Given the description of an element on the screen output the (x, y) to click on. 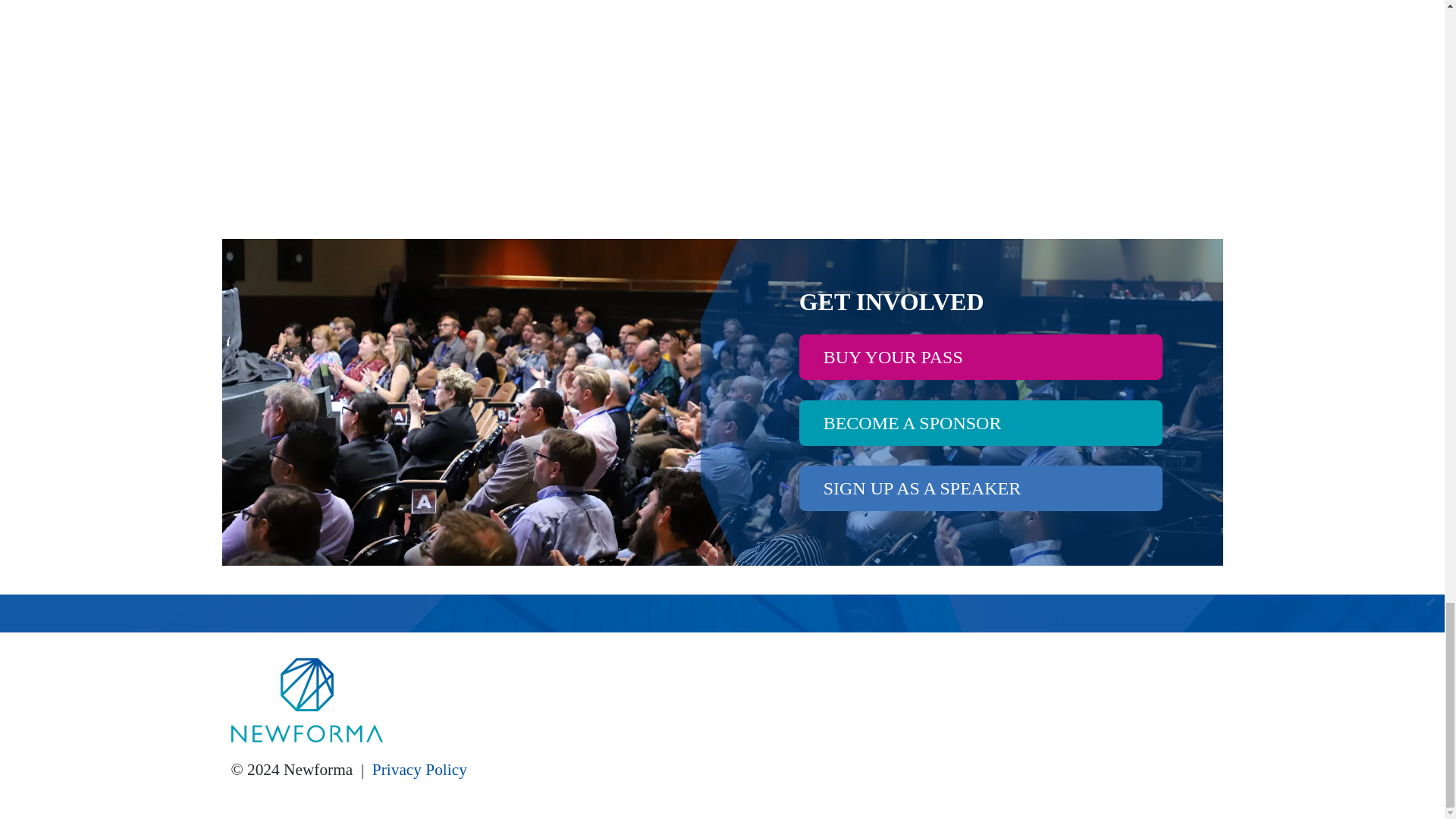
Privacy Policy (419, 770)
BUY YOUR PASS (980, 357)
BECOME A SPONSOR (980, 422)
SIGN UP AS A SPEAKER (980, 488)
